Given the description of an element on the screen output the (x, y) to click on. 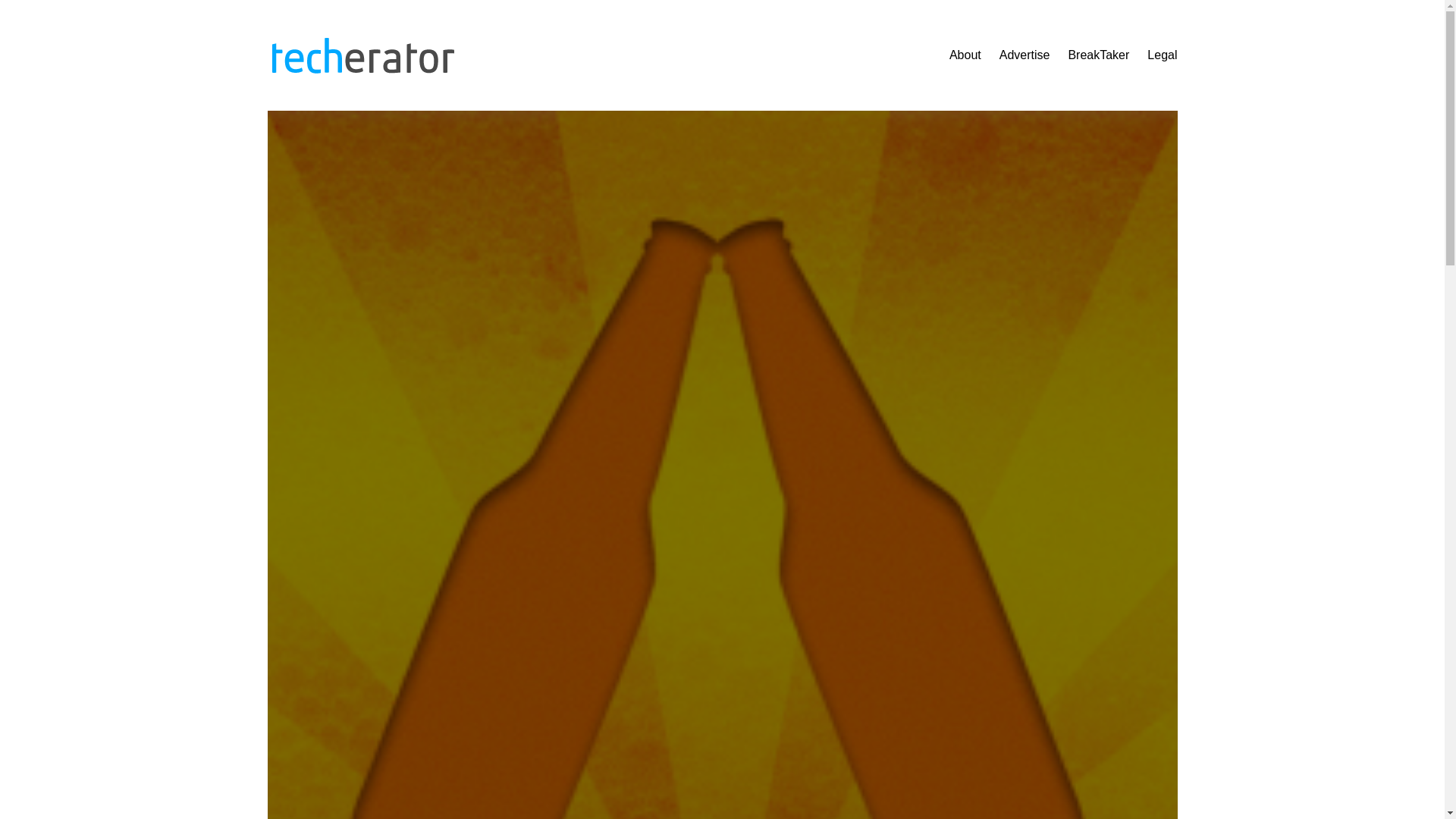
Advertise (1023, 55)
Legal (1161, 55)
BreakTaker (1098, 55)
About (965, 55)
